Given the description of an element on the screen output the (x, y) to click on. 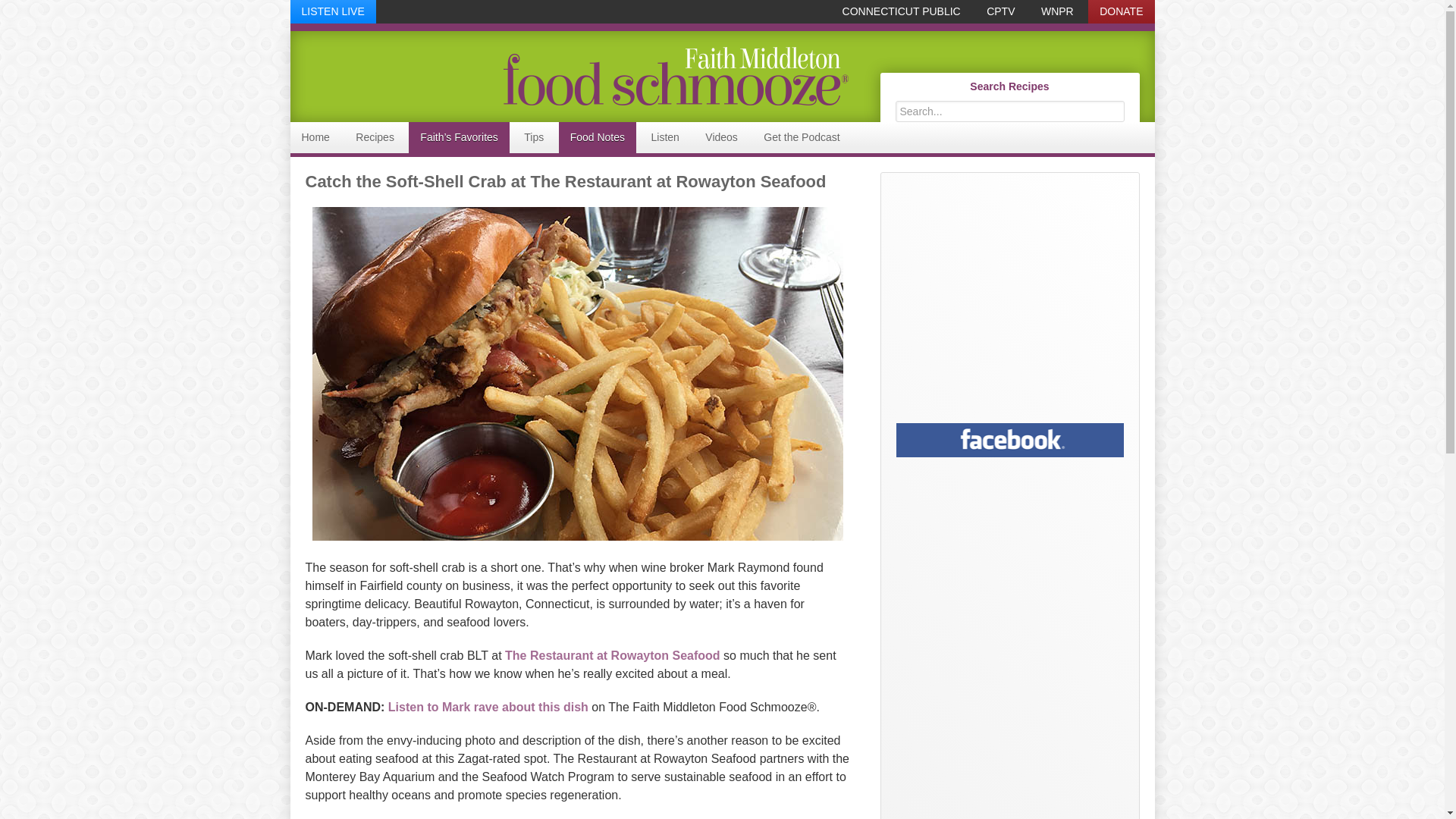
LISTEN LIVE (332, 11)
Food Notes (597, 137)
Recipes (374, 137)
Get the Podcast (801, 137)
Listen Live to WNPR (332, 11)
CPTV (1000, 11)
The Restaurant at Rowayton Seafood (612, 655)
Home (314, 137)
Videos (721, 137)
Search (1127, 103)
Faith Middleton's Food Schmooze (568, 76)
WNPR (1056, 11)
Search (1127, 103)
CONNECTICUT PUBLIC (901, 11)
Faith Middleton's Food Schmooze (675, 75)
